Given the description of an element on the screen output the (x, y) to click on. 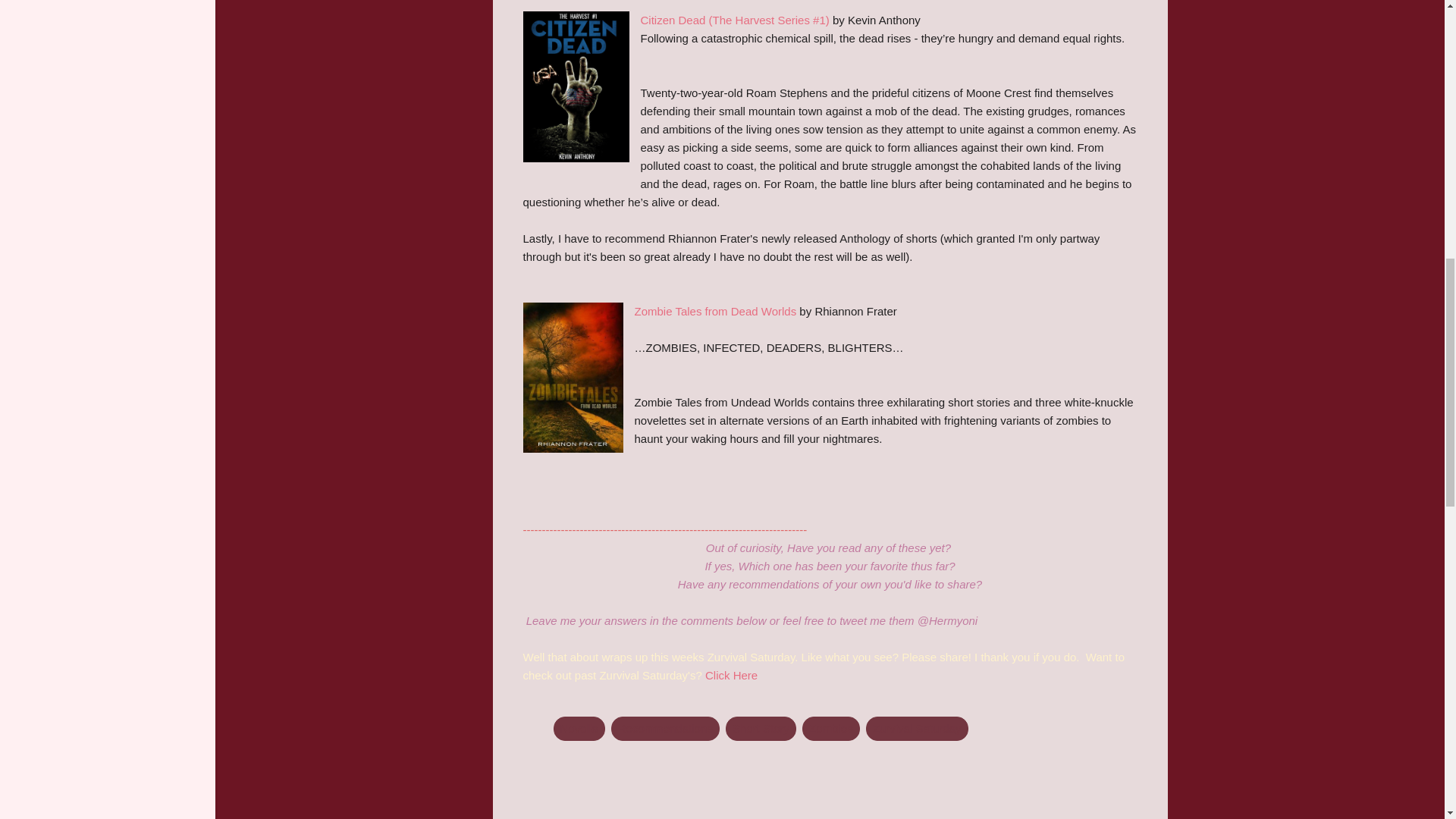
Zombie Tales from Dead Worlds (714, 310)
Zombies (831, 727)
Click Here (730, 675)
Recommendations (665, 727)
Zurvival Saturday (917, 727)
Short Story (760, 727)
Novella (579, 727)
